Given the description of an element on the screen output the (x, y) to click on. 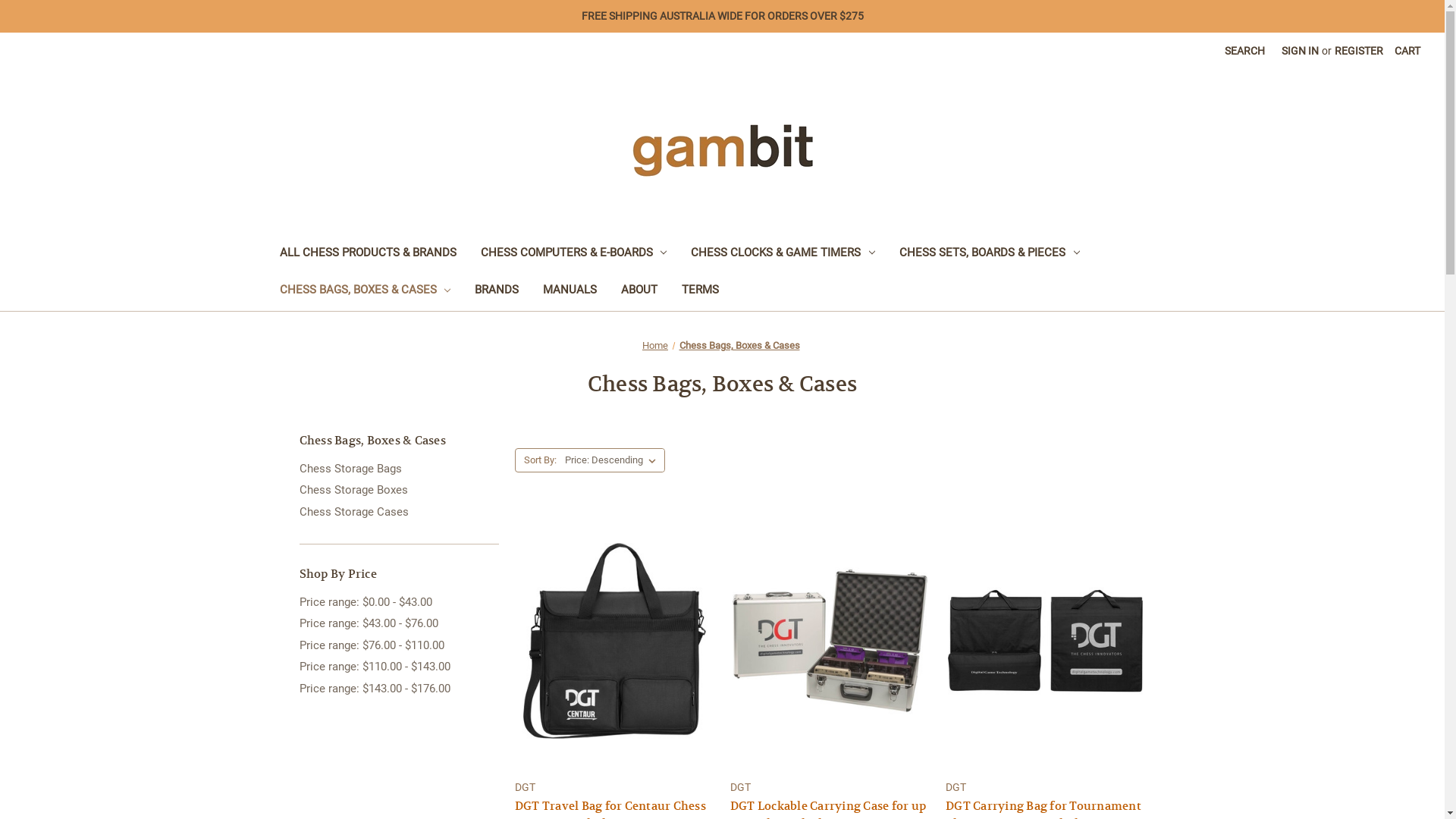
ALL CHESS PRODUCTS & BRANDS Element type: text (366, 254)
Price range: $143.00 - $176.00 Element type: text (398, 688)
CART Element type: text (1407, 50)
SIGN IN Element type: text (1300, 50)
REGISTER Element type: text (1358, 50)
Price range: $76.00 - $110.00 Element type: text (398, 645)
CHESS COMPUTERS & E-BOARDS Element type: text (573, 254)
Chess Bags, Boxes & Cases Element type: text (739, 345)
Price range: $0.00 - $43.00 Element type: text (398, 602)
Chess Storage Cases Element type: text (398, 512)
CHESS SETS, BOARDS & PIECES Element type: text (989, 254)
DGT Travel Bag for Centaur Chess Computer [Black] Element type: hover (614, 639)
ABOUT Element type: text (638, 291)
Chess Storage Boxes Element type: text (398, 490)
Gambit Chess Supplies Element type: hover (722, 150)
DGT Lockable Carrying Case for up to 10 Chess Clocks Element type: hover (829, 639)
BRANDS Element type: text (496, 291)
DGT Carrying Bag for Tournament Chess Equipment [Black] Element type: hover (1044, 639)
TERMS Element type: text (700, 291)
Home Element type: text (655, 345)
Price range: $43.00 - $76.00 Element type: text (398, 623)
Chess Storage Bags Element type: text (398, 469)
MANUALS Element type: text (569, 291)
Price range: $110.00 - $143.00 Element type: text (398, 666)
CHESS BAGS, BOXES & CASES Element type: text (364, 291)
SEARCH Element type: text (1244, 50)
CHESS CLOCKS & GAME TIMERS Element type: text (782, 254)
